Given the description of an element on the screen output the (x, y) to click on. 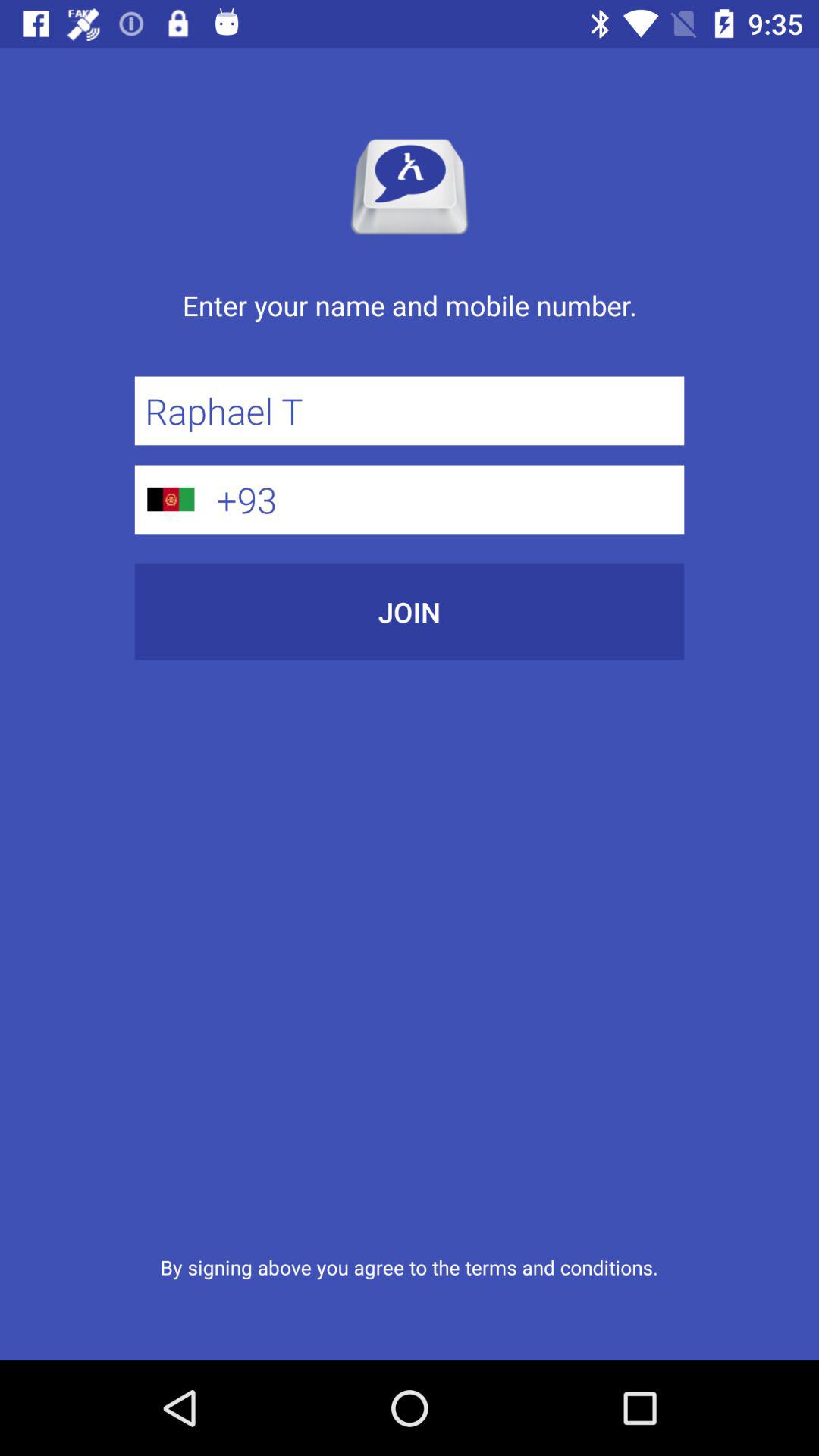
press the +93 (445, 499)
